Given the description of an element on the screen output the (x, y) to click on. 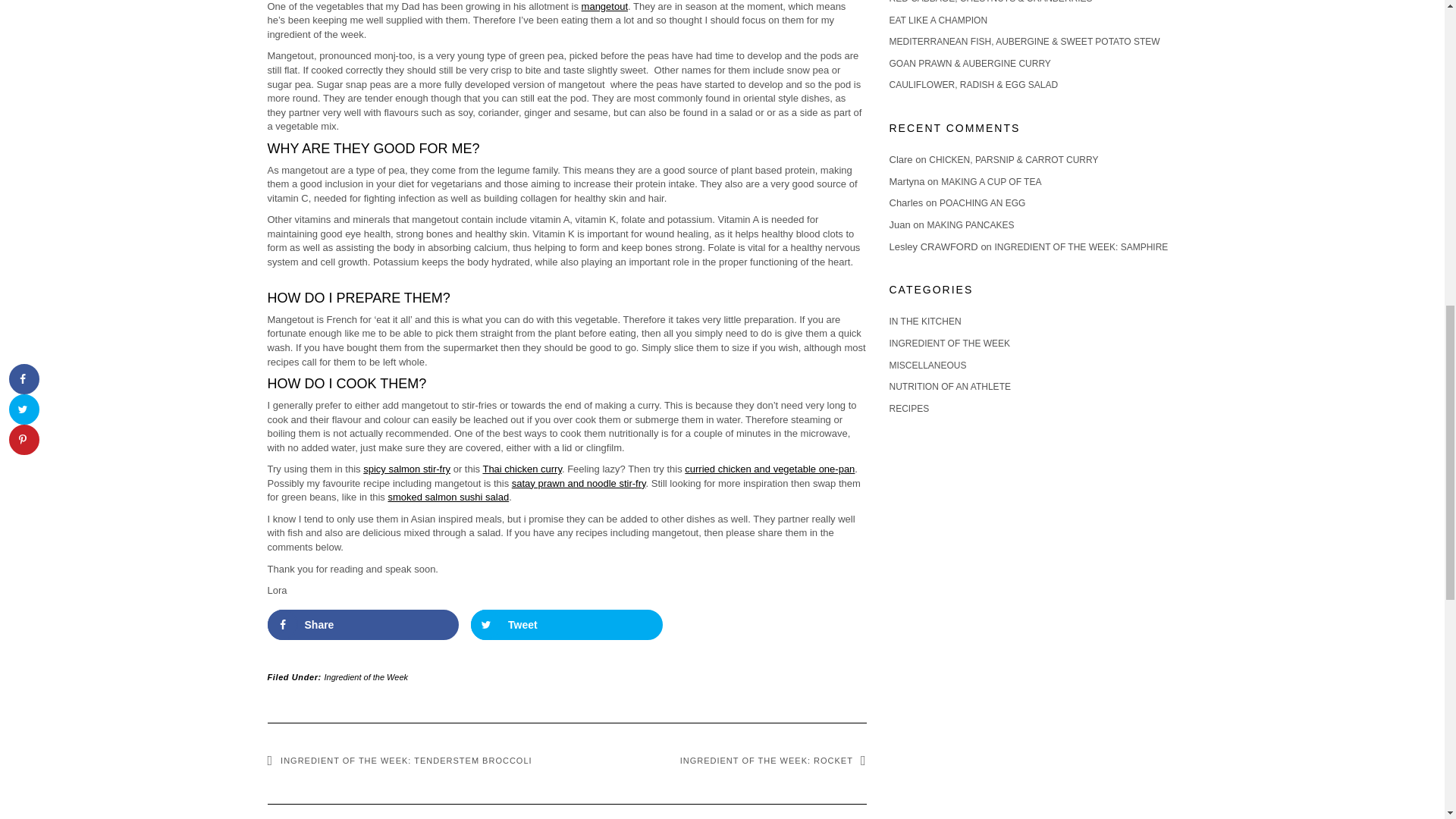
satay prawn and noodle stir-fry (579, 482)
Tweet (566, 624)
MISCELLANEOUS (927, 365)
MAKING PANCAKES (969, 225)
curried chicken and vegetable one-pan (769, 469)
Ingredient of the Week (365, 676)
INGREDIENT OF THE WEEK: SAMPHIRE (1080, 246)
Share on Twitter (566, 624)
smoked salmon sushi salad (447, 496)
POACHING AN EGG (982, 203)
spicy salmon stir-fry (405, 469)
MAKING A CUP OF TEA (990, 181)
Share on Facebook (362, 624)
EAT LIKE A CHAMPION (937, 20)
IN THE KITCHEN (924, 321)
